Given the description of an element on the screen output the (x, y) to click on. 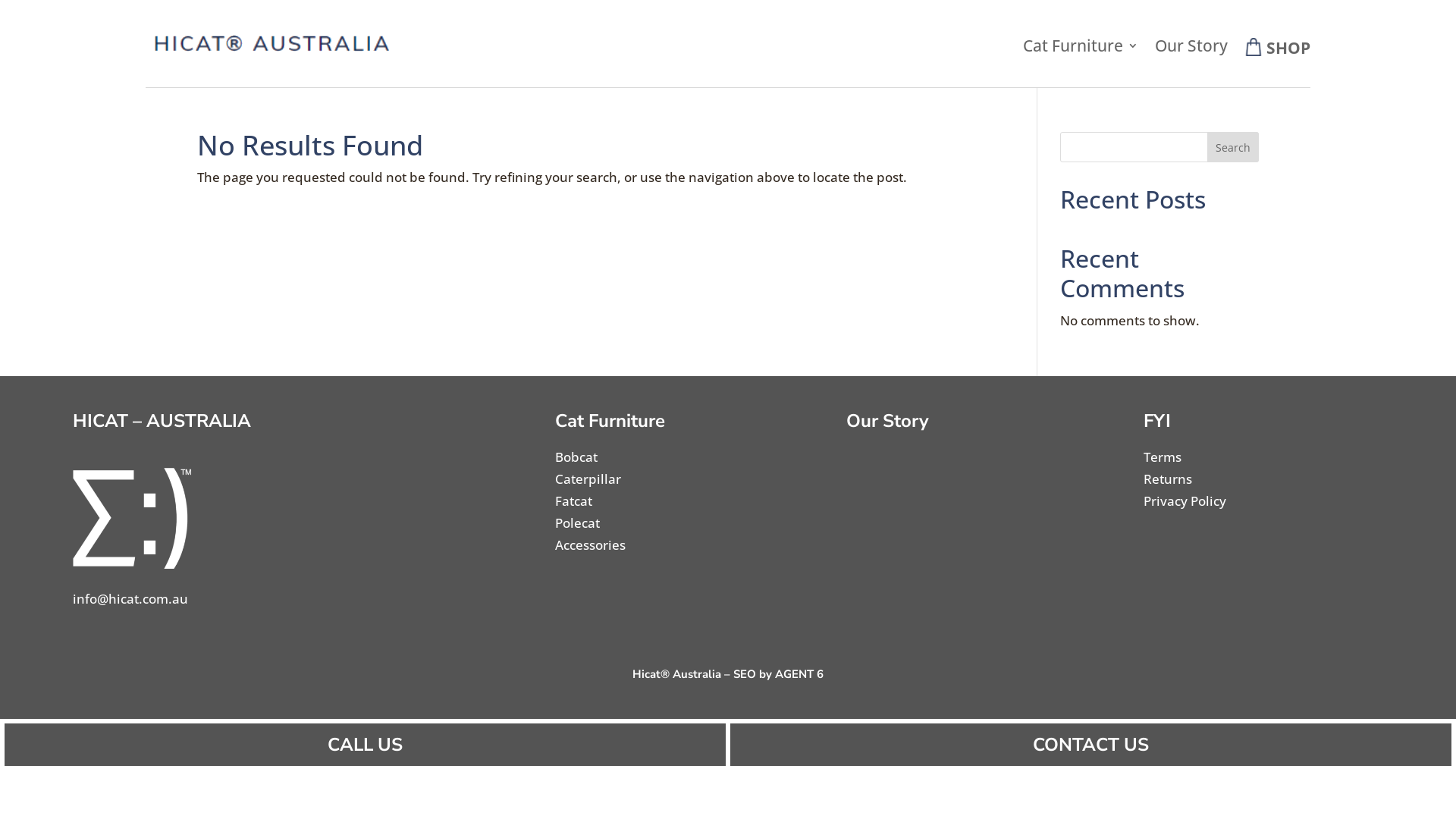
info@hicat.com.au Element type: text (130, 598)
Accessories Element type: text (590, 544)
Our Story Element type: text (1190, 49)
Cat Furniture Element type: text (1080, 49)
CALL US Element type: text (365, 744)
Privacy Policy Element type: text (1184, 500)
Bobcat Element type: text (576, 456)
Fatcat Element type: text (573, 500)
AGENT 6 Element type: text (799, 672)
Polecat Element type: text (577, 522)
CONTACT US Element type: text (1090, 744)
Caterpillar Element type: text (588, 478)
Terms Element type: text (1162, 456)
SHOP Element type: text (1277, 47)
Search Element type: text (1232, 146)
Returns Element type: text (1167, 478)
